Given the description of an element on the screen output the (x, y) to click on. 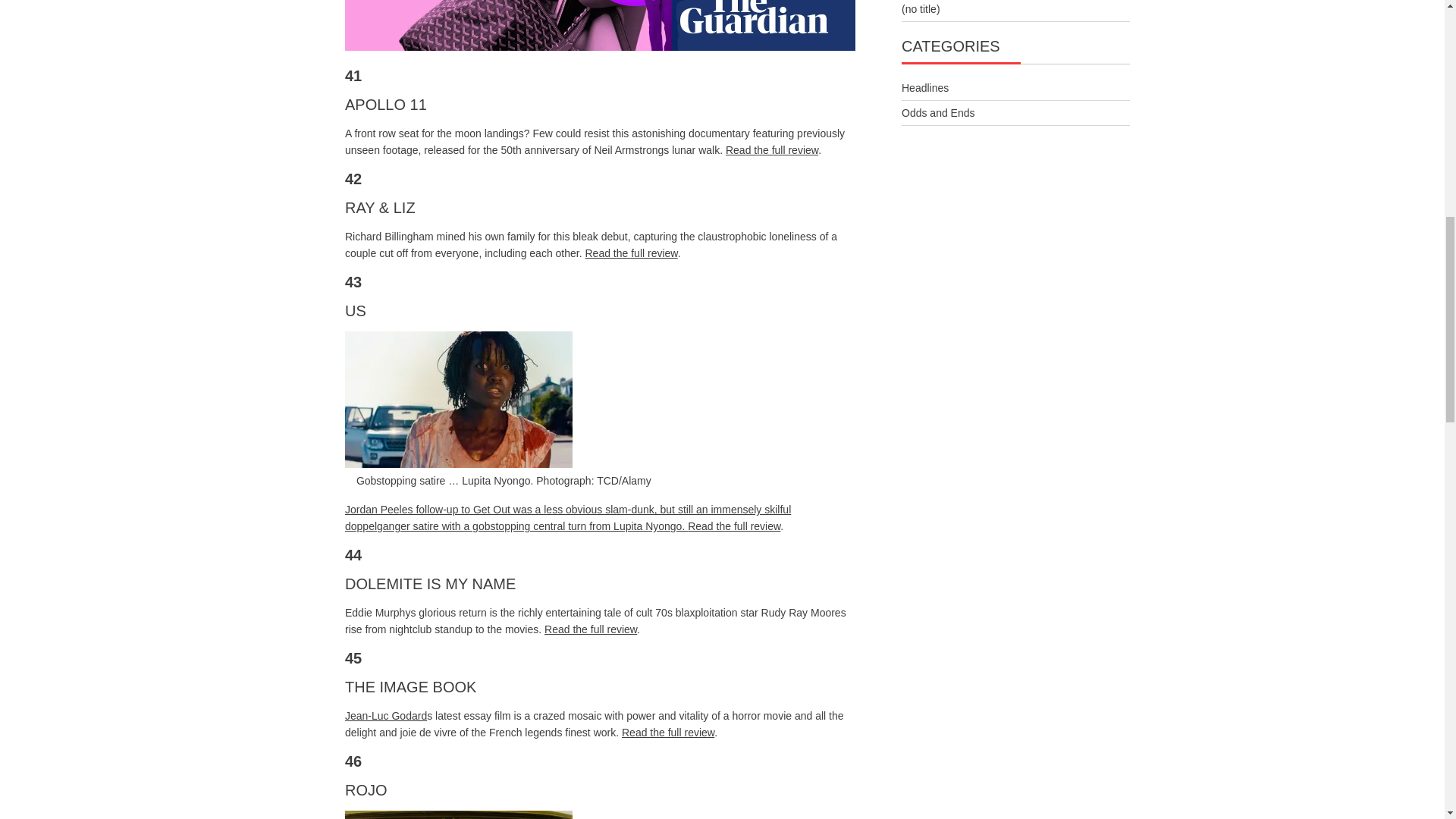
Read the full review (631, 253)
Read the full review (733, 526)
Read the full review (771, 150)
